Given the description of an element on the screen output the (x, y) to click on. 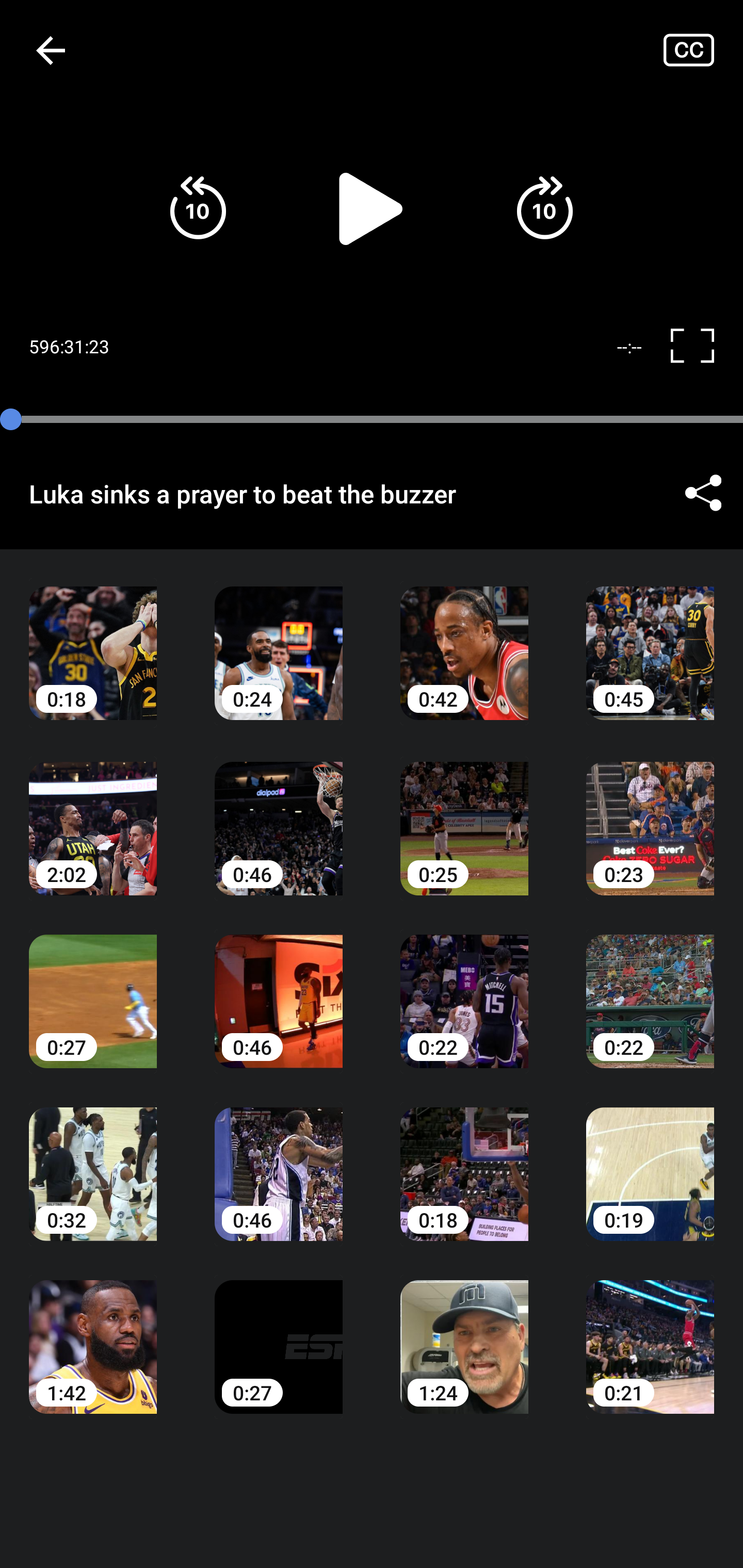
Navigate up (50, 50)
Closed captions  (703, 49)
Rewind 10 seconds  (197, 208)
Fast forward 10 seconds  (544, 208)
Play (371, 208)
Fullscreen  (699, 346)
Share © (703, 493)
0:18 (92, 637)
0:24 (278, 637)
0:42 (464, 637)
0:45 (650, 637)
2:02 (92, 813)
0:46 (278, 813)
0:25 (464, 813)
0:23 (650, 813)
0:27 (92, 987)
0:46 (278, 987)
0:22 (464, 987)
0:22 (650, 987)
0:32 (92, 1160)
0:46 (278, 1160)
0:18 (464, 1160)
0:19 (650, 1160)
1:42 (92, 1332)
0:27 (278, 1332)
1:24 (464, 1332)
0:21 (650, 1332)
